Given the description of an element on the screen output the (x, y) to click on. 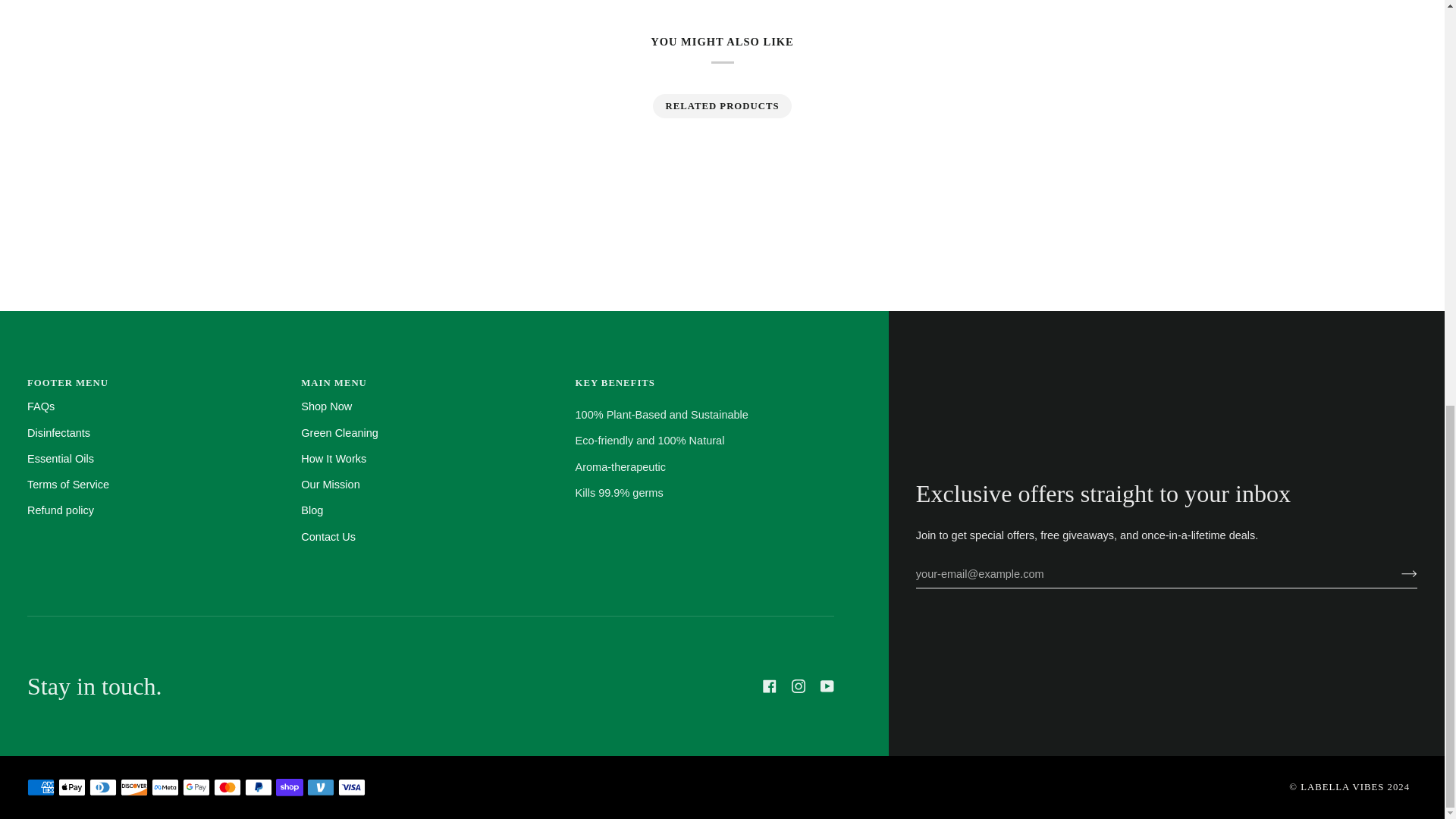
YouTube (827, 685)
Facebook (769, 685)
PAYPAL (258, 787)
RELATED PRODUCTS (722, 105)
VISA (351, 787)
SHOP PAY (289, 787)
Instagram (798, 685)
VENMO (320, 787)
DINERS CLUB (102, 787)
APPLE PAY (71, 787)
META PAY (165, 787)
MASTERCARD (227, 787)
DISCOVER (134, 787)
GOOGLE PAY (196, 787)
AMERICAN EXPRESS (41, 787)
